Given the description of an element on the screen output the (x, y) to click on. 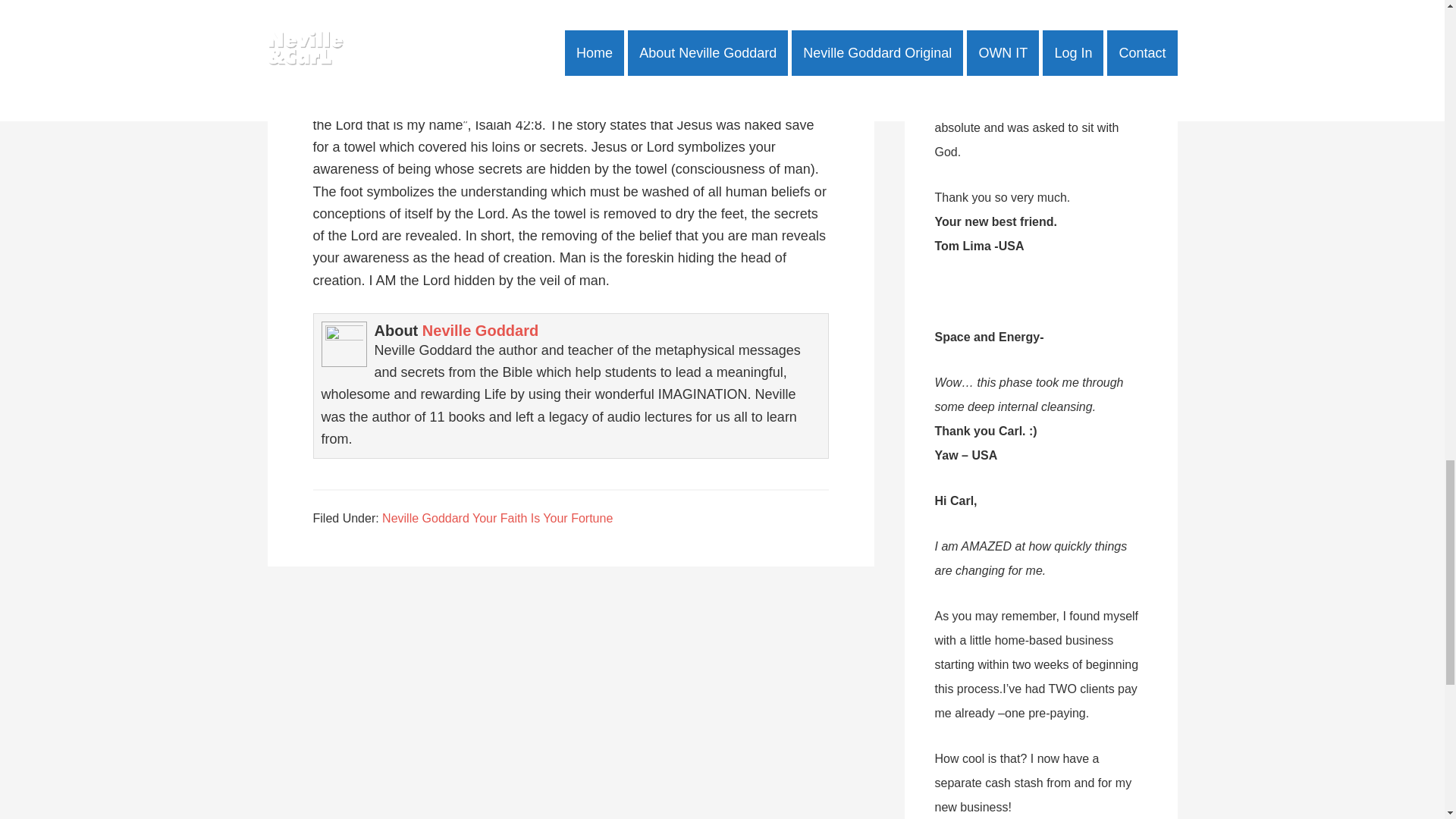
Neville Goddard (480, 330)
Neville Goddard Your Faith Is Your Fortune (496, 517)
